Given the description of an element on the screen output the (x, y) to click on. 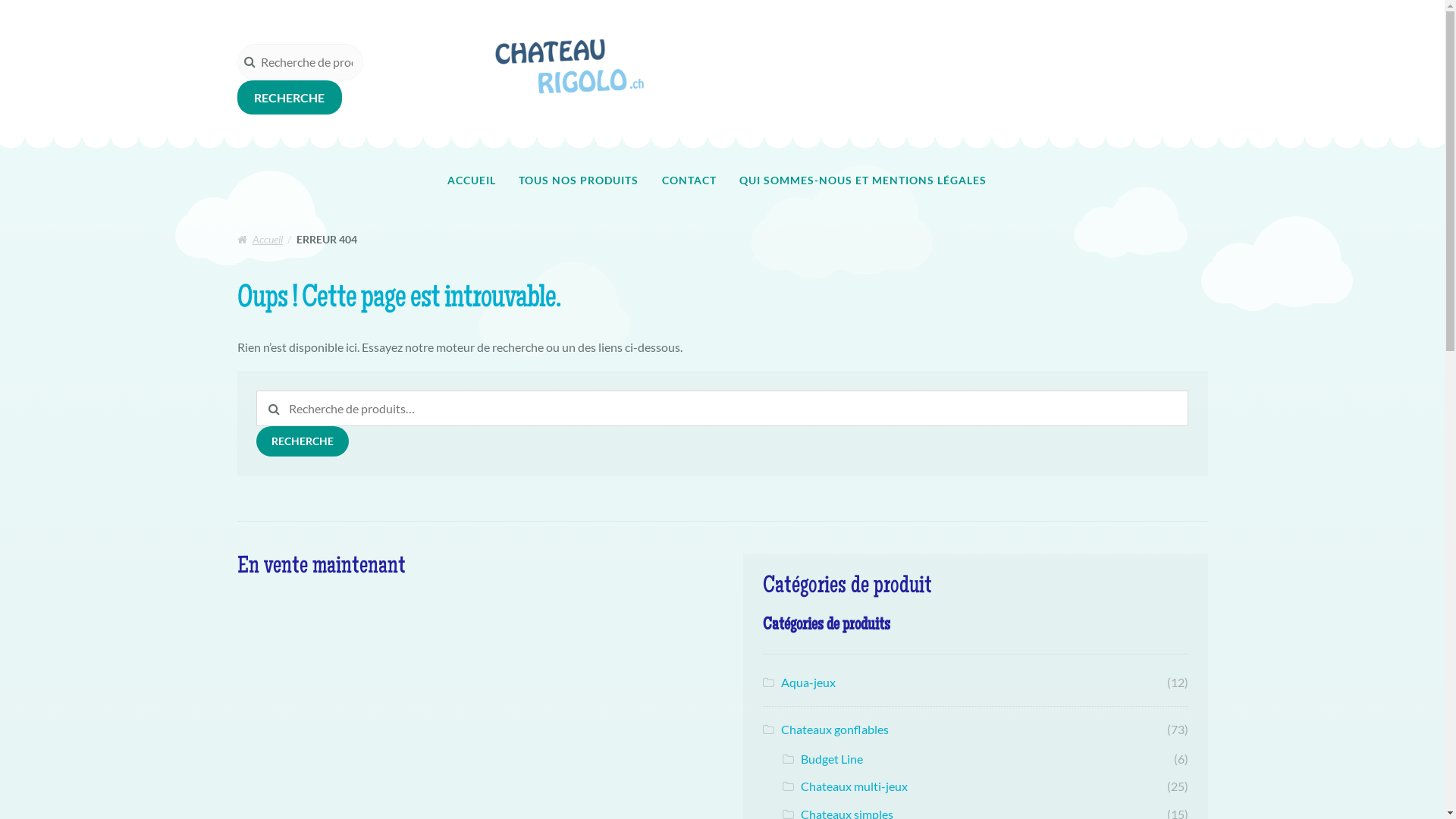
RECHERCHE Element type: text (302, 441)
CONTACT Element type: text (688, 180)
ACCUEIL Element type: text (470, 180)
Chateaux multi-jeux Element type: text (853, 785)
TOUS NOS PRODUITS Element type: text (578, 180)
Accueil Element type: text (259, 238)
Aqua-jeux Element type: text (808, 681)
Chateaux gonflables Element type: text (834, 728)
RECHERCHE Element type: text (288, 97)
Budget Line Element type: text (831, 758)
